Given the description of an element on the screen output the (x, y) to click on. 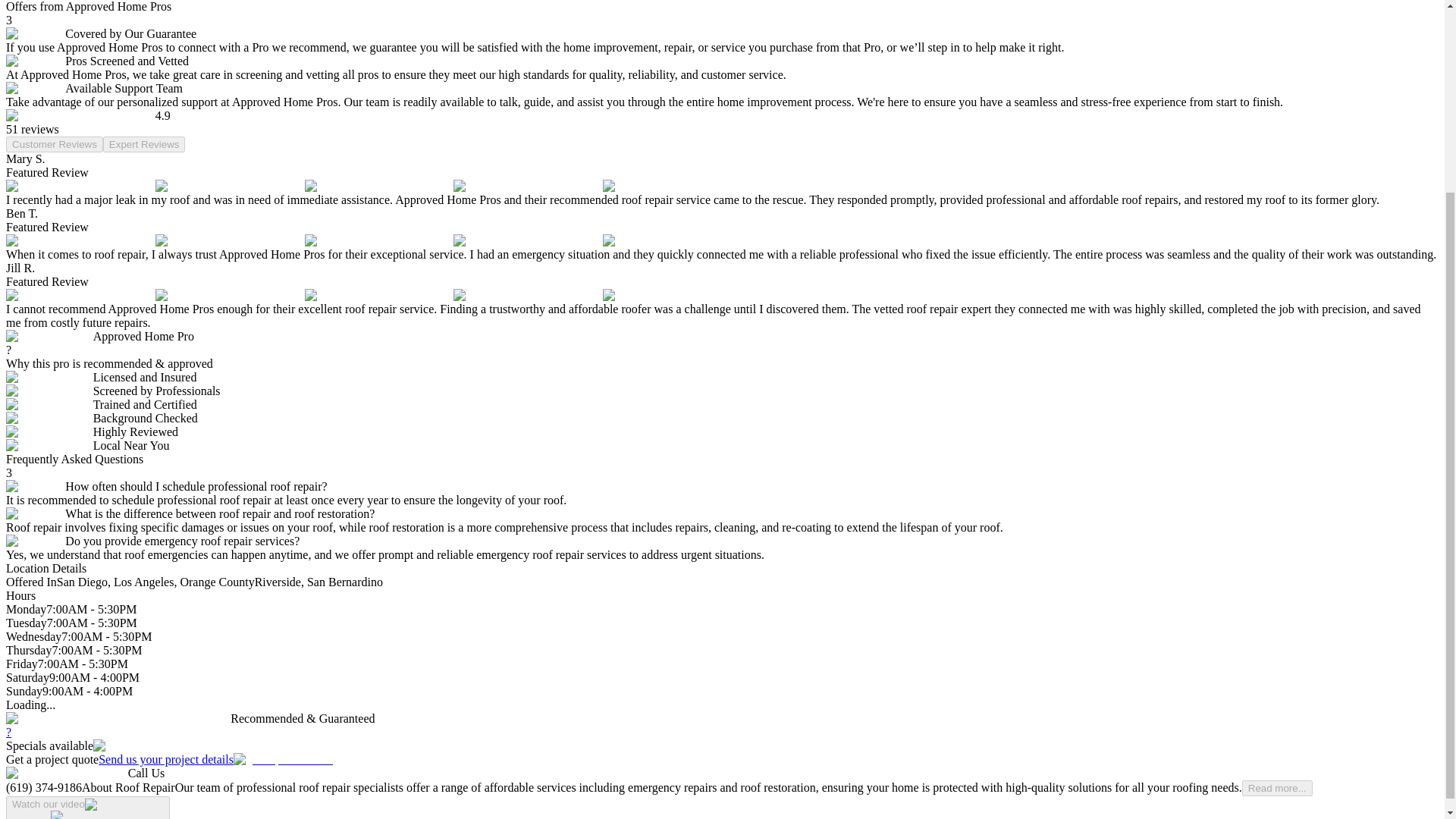
Read more... (1277, 788)
Send us your project details (216, 758)
Expert Reviews (144, 144)
Customer Reviews (54, 144)
